Given the description of an element on the screen output the (x, y) to click on. 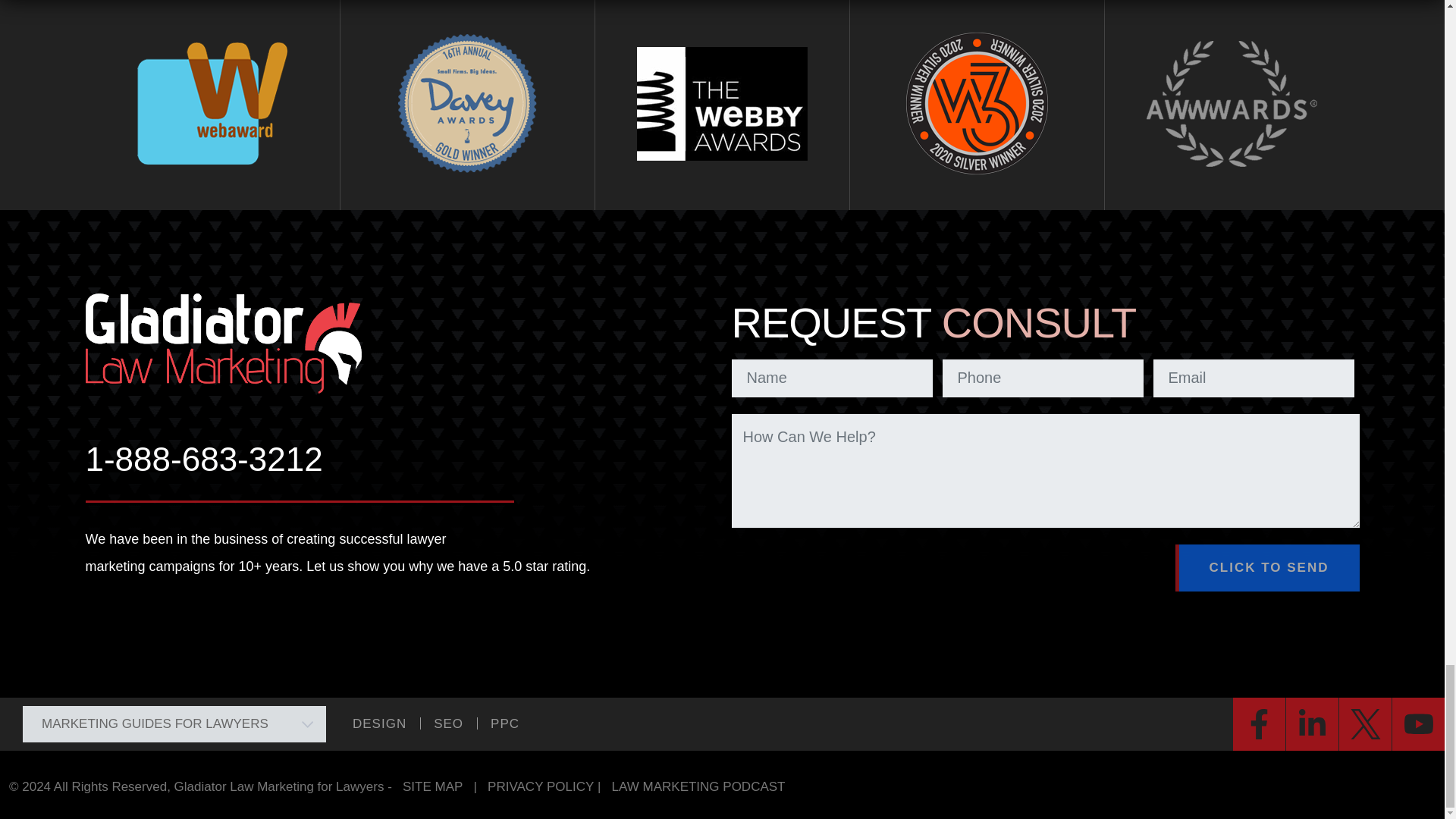
CLICK TO SEND (1266, 567)
